Given the description of an element on the screen output the (x, y) to click on. 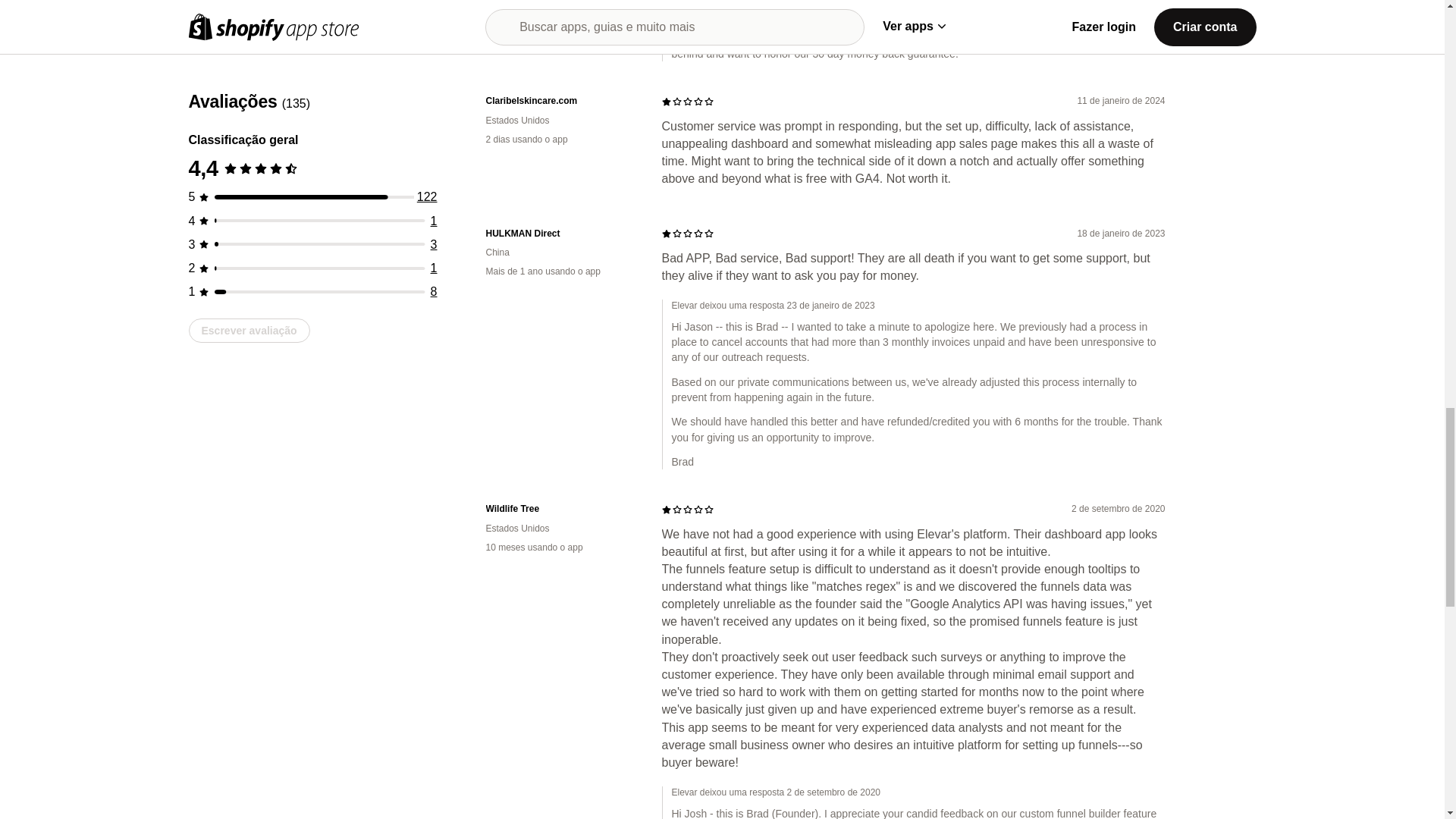
HULKMAN Direct (560, 233)
Wildlife Tree (560, 508)
Claribelskincare.com (560, 101)
